Given the description of an element on the screen output the (x, y) to click on. 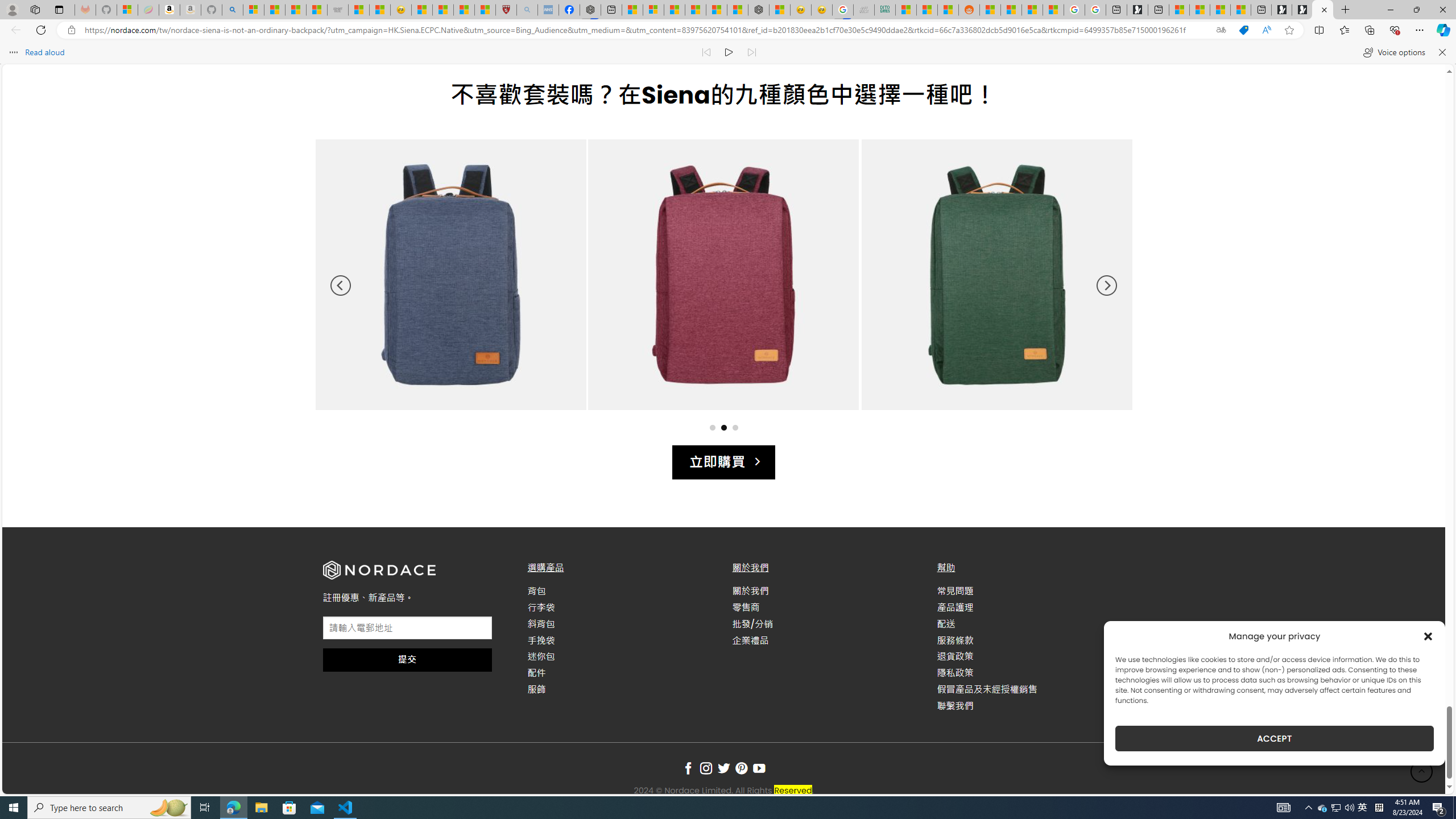
Page dot 2 (723, 427)
